Given the description of an element on the screen output the (x, y) to click on. 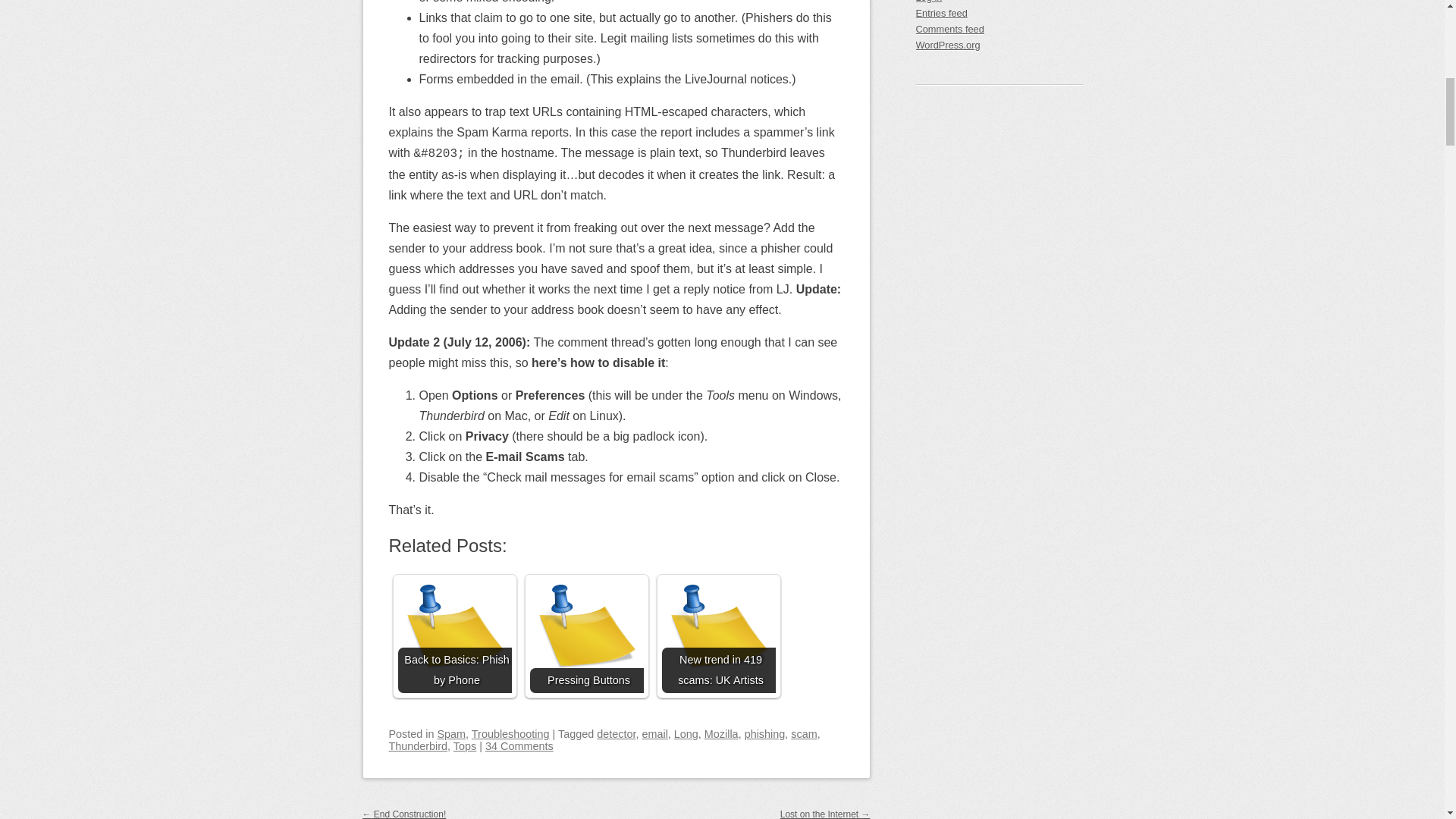
Long (686, 734)
phishing (765, 734)
Back to Basics: Phish by Phone (454, 635)
Tops (464, 746)
Pressing Buttons (586, 635)
Troubleshooting (510, 734)
New trend in 419 scams: UK Artists (717, 635)
Spam (451, 734)
Pressing Buttons (586, 635)
Thunderbird (417, 746)
